Given the description of an element on the screen output the (x, y) to click on. 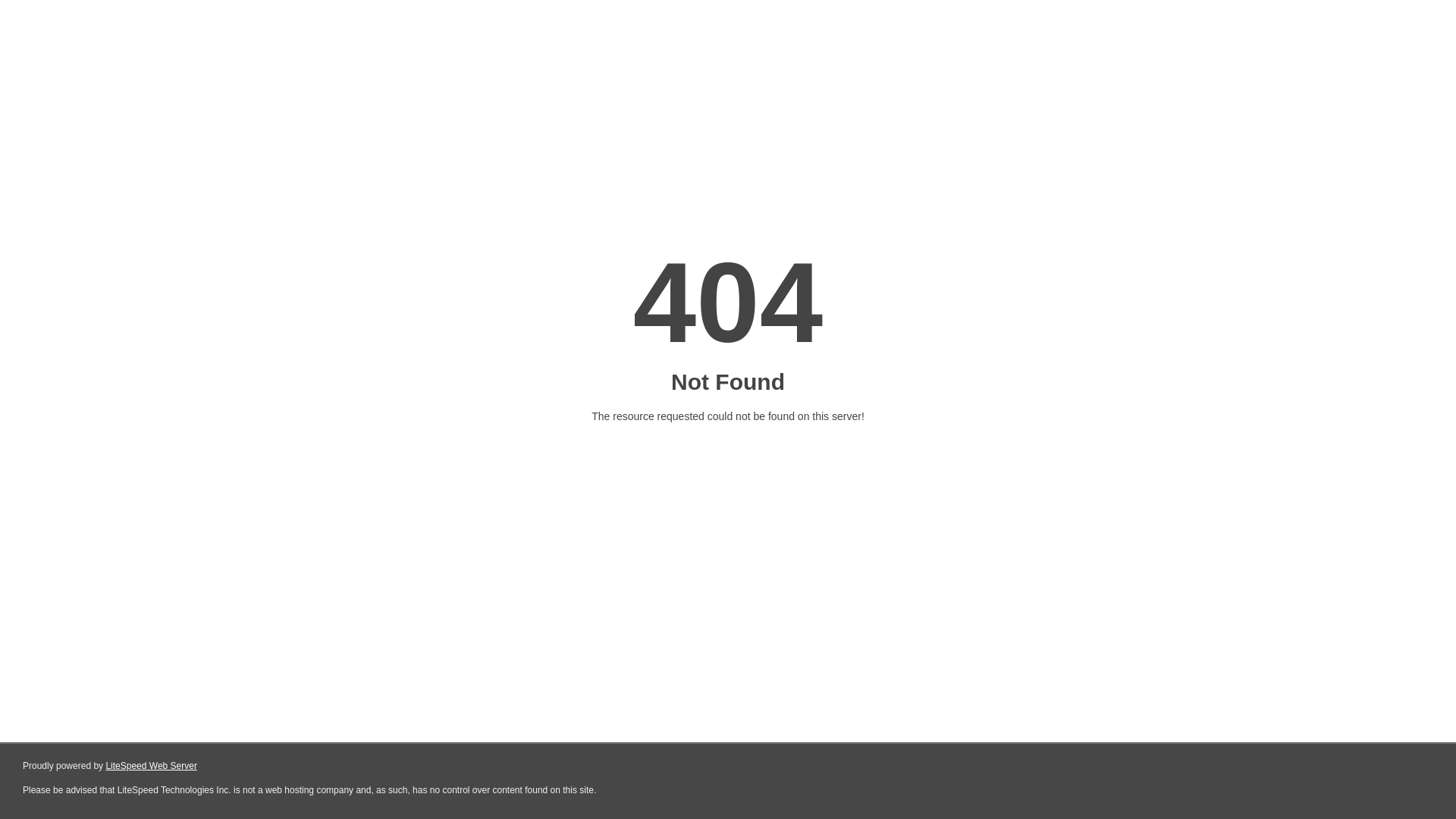
LiteSpeed Web Server Element type: text (151, 765)
